Given the description of an element on the screen output the (x, y) to click on. 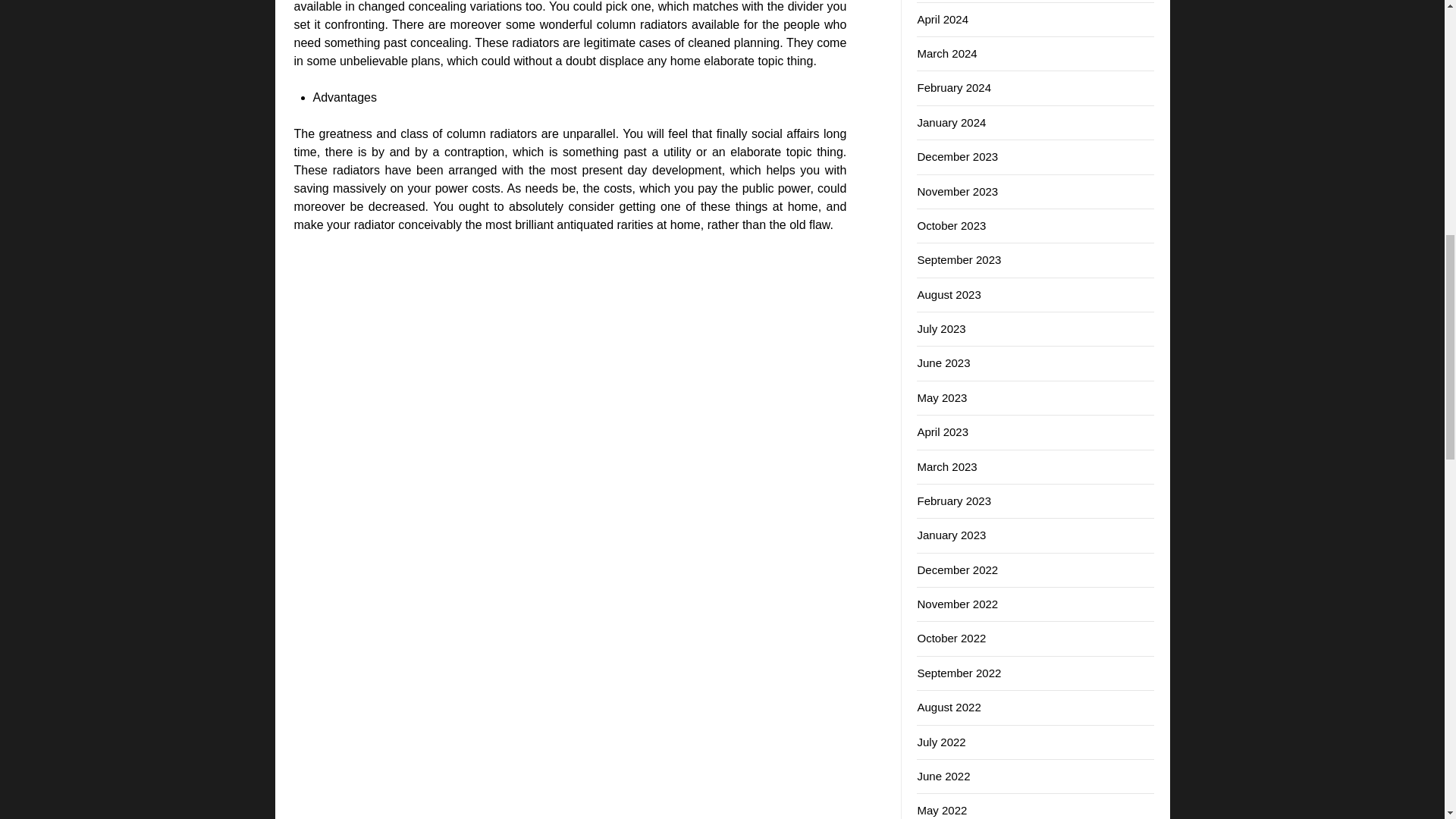
March 2024 (946, 52)
December 2023 (957, 155)
June 2023 (943, 362)
April 2024 (942, 19)
October 2023 (951, 225)
July 2023 (941, 328)
February 2023 (954, 500)
November 2023 (957, 191)
November 2022 (957, 603)
May 2023 (941, 397)
